Given the description of an element on the screen output the (x, y) to click on. 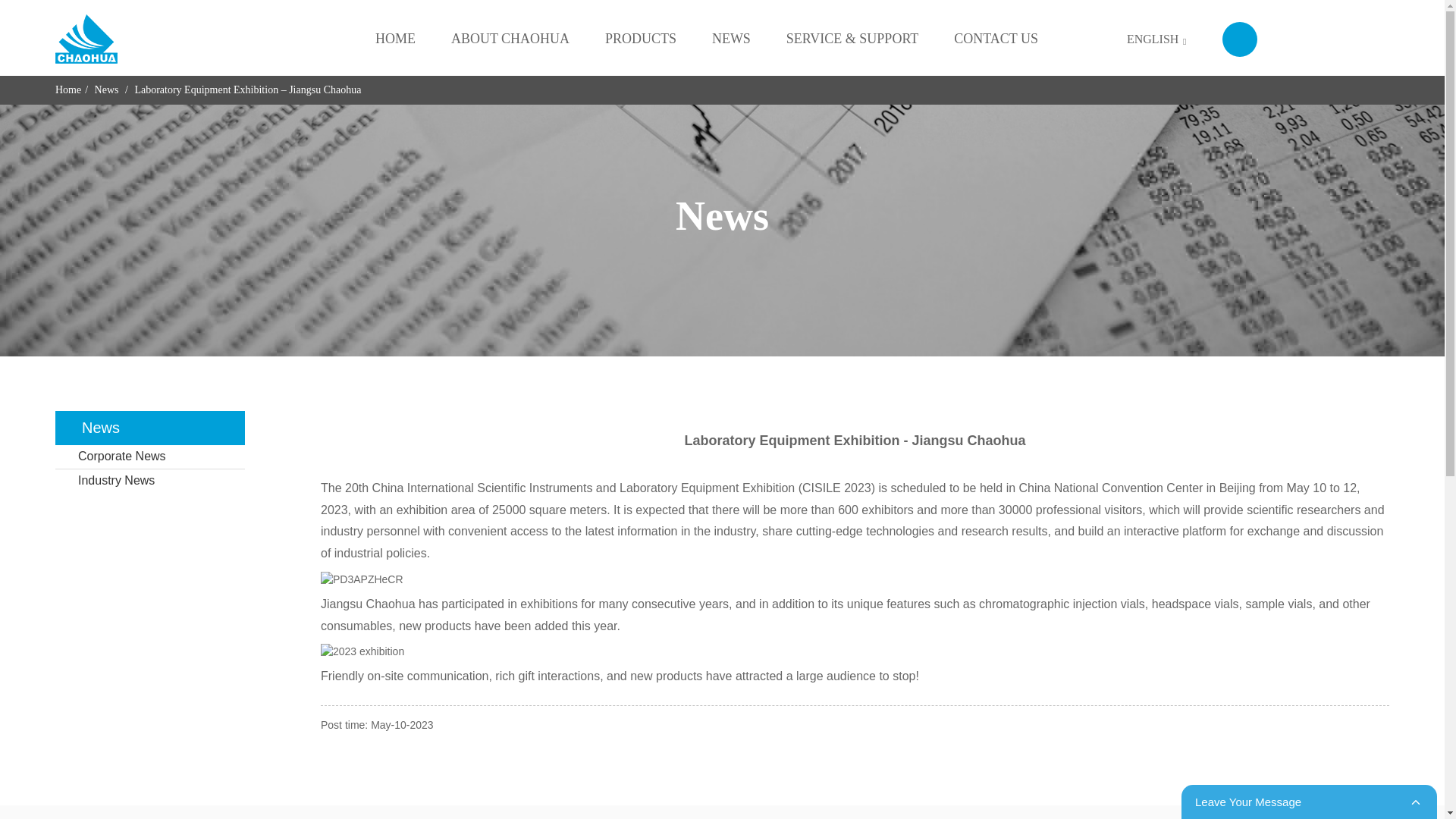
PRODUCTS (641, 39)
Industry News (149, 480)
NEWS (731, 39)
Corporate News (149, 456)
Home (68, 89)
HOME (394, 39)
CONTACT US (995, 39)
ABOUT CHAOHUA (510, 39)
ENGLISH (1144, 37)
News (106, 89)
